Given the description of an element on the screen output the (x, y) to click on. 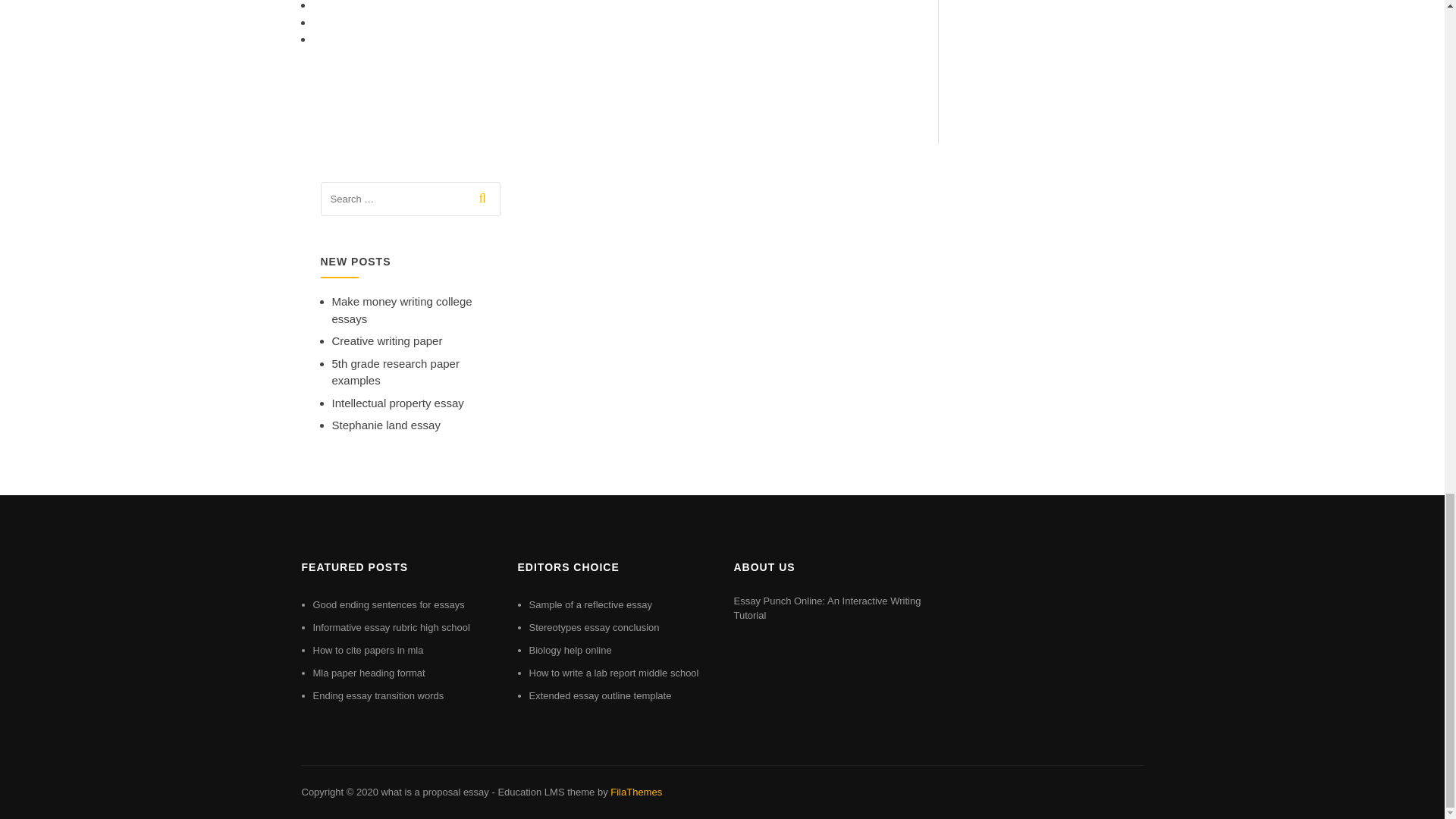
Make money writing college essays (401, 309)
How to write a lab report middle school (613, 672)
Good ending sentences for essays (388, 604)
Extended essay outline template (600, 695)
Sample of a reflective essay (590, 604)
what is a proposal essay (433, 791)
Creative writing paper (386, 340)
Ending essay transition words (378, 695)
5th grade research paper examples (395, 372)
Stereotypes essay conclusion (594, 627)
